Given the description of an element on the screen output the (x, y) to click on. 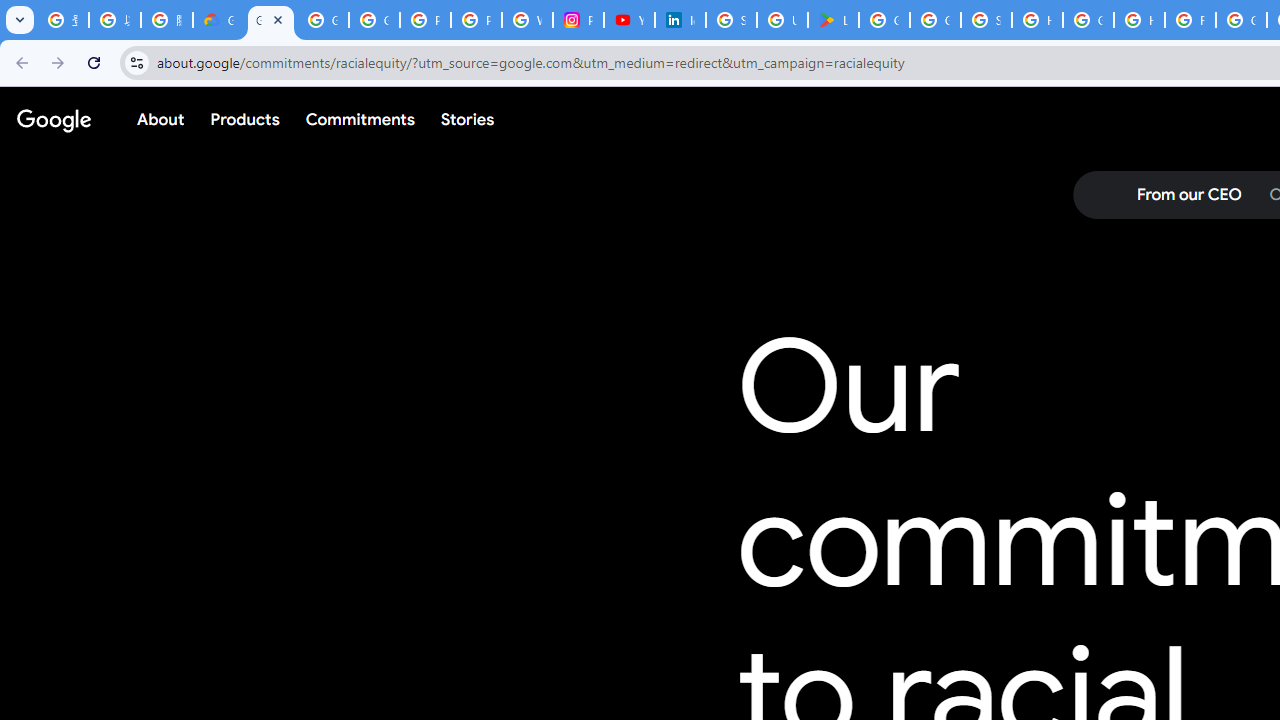
Google Workspace - Specific Terms (935, 20)
Privacy Help Center - Policies Help (475, 20)
Sign in - Google Accounts (731, 20)
Stories (467, 119)
How do I create a new Google Account? - Google Account Help (1138, 20)
